Given the description of an element on the screen output the (x, y) to click on. 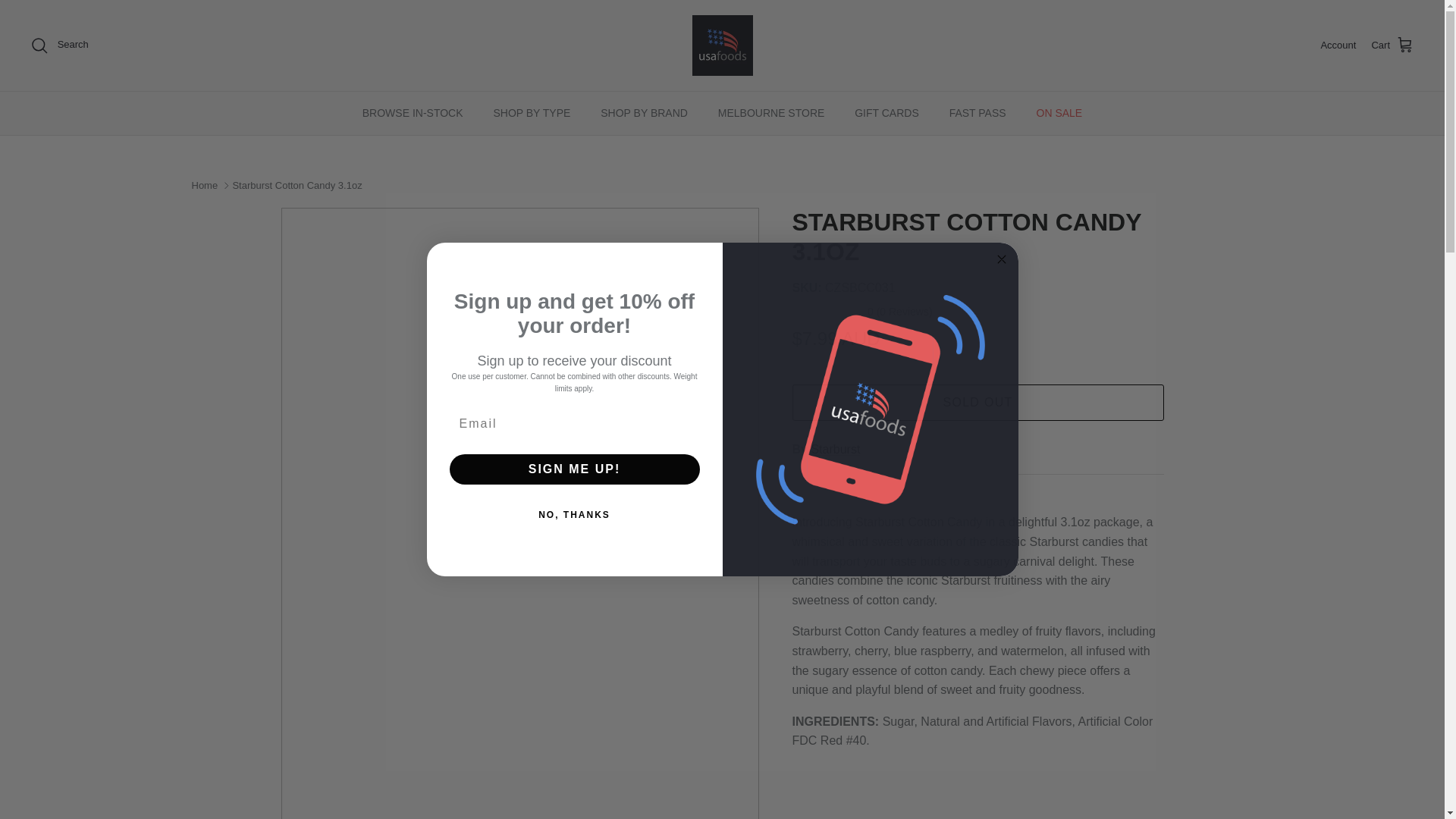
Search (59, 45)
SHOP BY TYPE (531, 113)
USAFoods (721, 45)
Cart (1392, 45)
Account (1337, 45)
BROWSE IN-STOCK (413, 113)
